Given the description of an element on the screen output the (x, y) to click on. 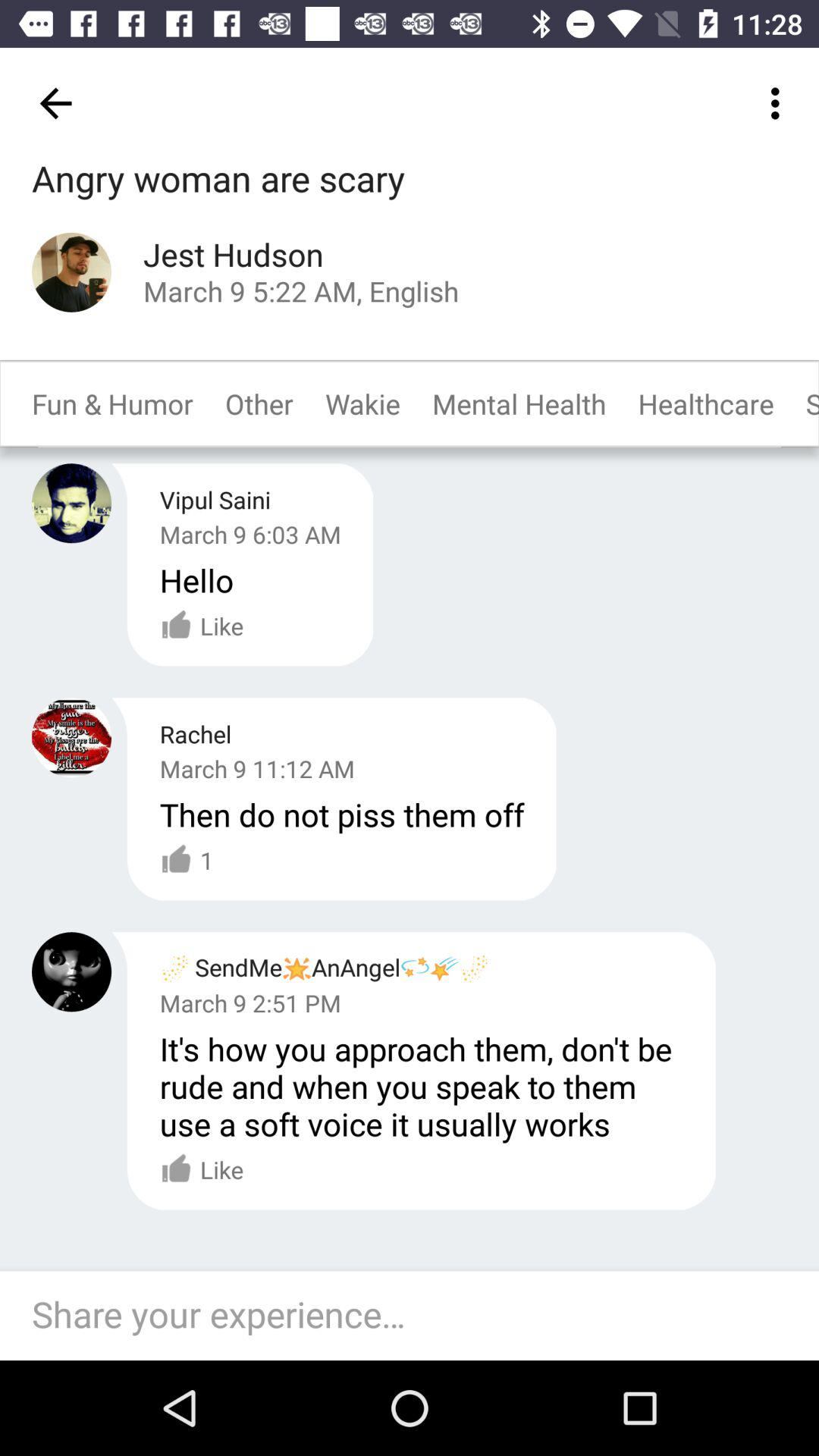
share the article (417, 1315)
